Given the description of an element on the screen output the (x, y) to click on. 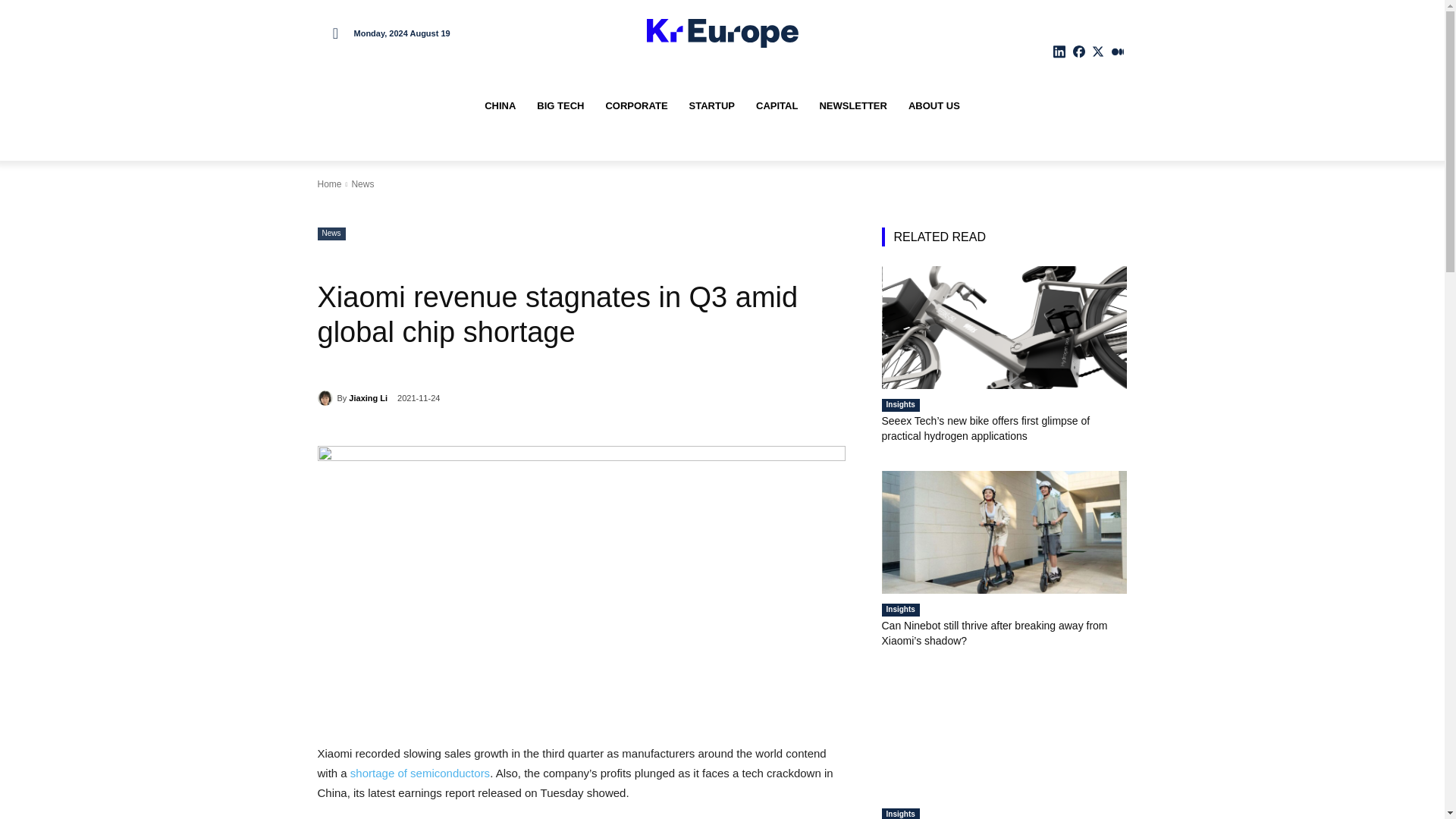
BIG TECH (559, 105)
shortage of semiconductors (419, 772)
NEWSLETTER (853, 105)
Jiaxing Li (326, 397)
ABOUT US (934, 105)
CHINA (499, 105)
News (362, 184)
Home (328, 184)
View all posts in News (362, 184)
News (331, 233)
